Given the description of an element on the screen output the (x, y) to click on. 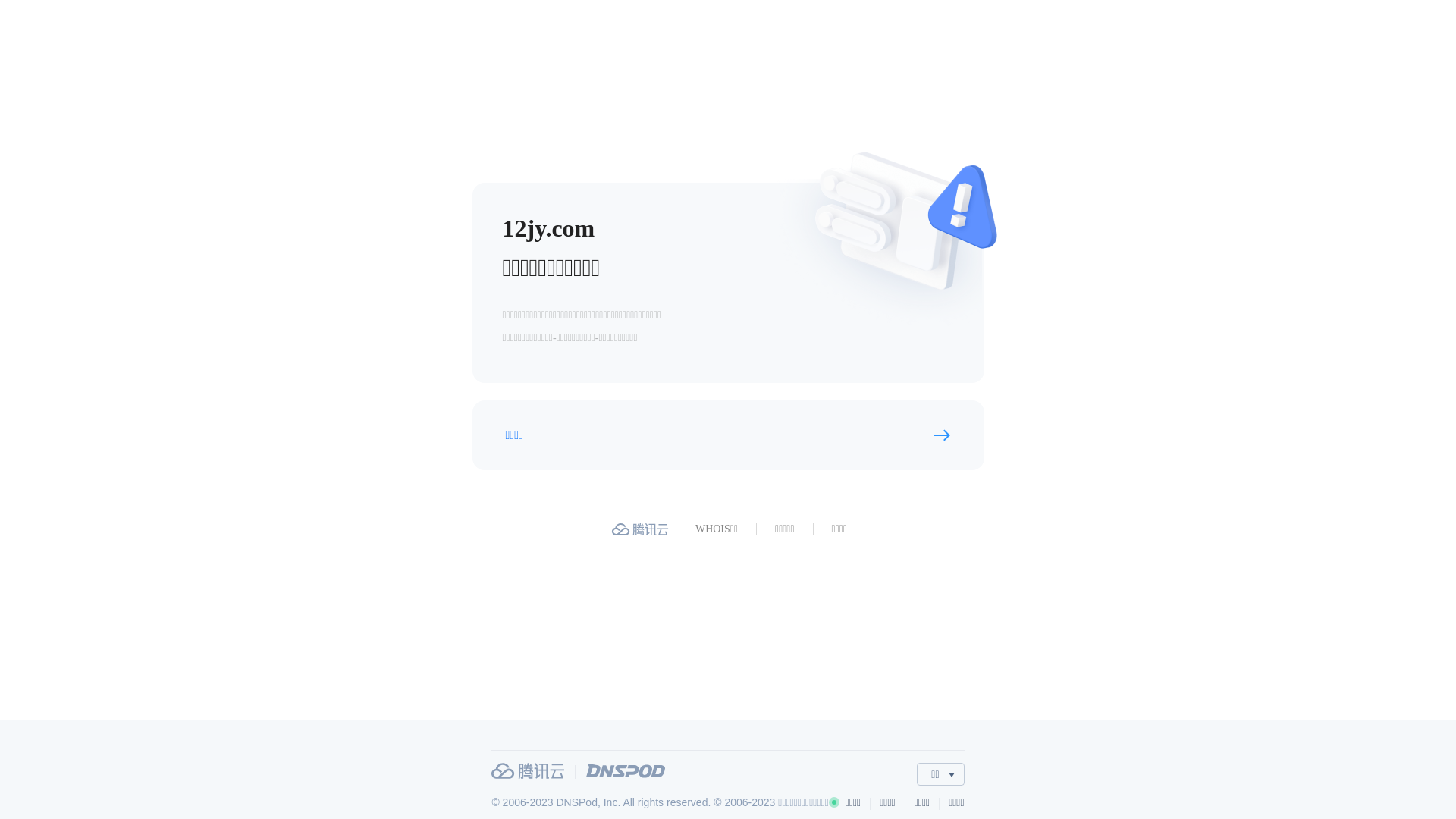
DNSPod Element type: text (625, 770)
